Given the description of an element on the screen output the (x, y) to click on. 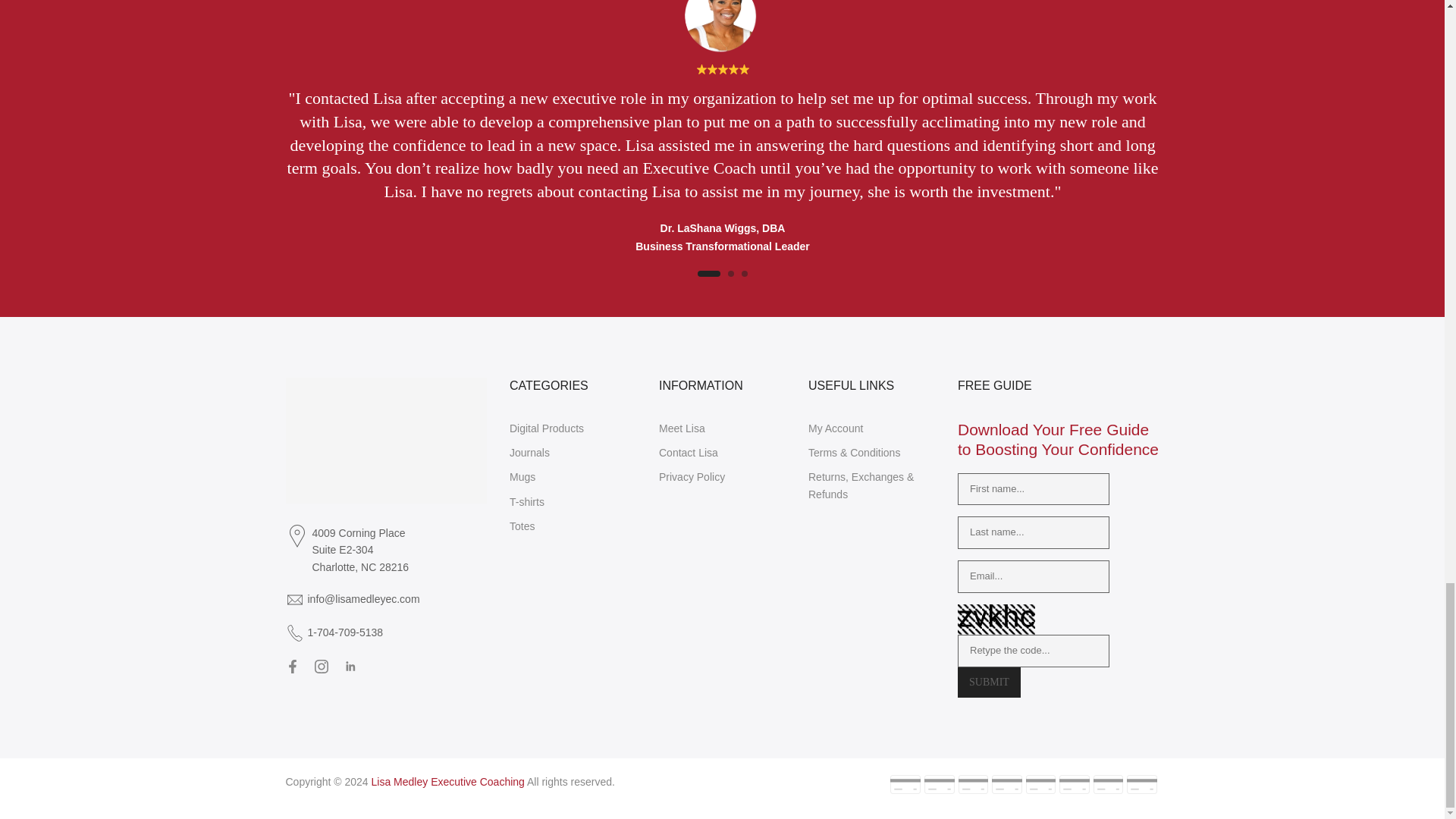
Totes (521, 526)
Digital Products (546, 428)
Mugs (522, 476)
Privacy Policy (692, 476)
My Account (835, 428)
SUBMIT (989, 682)
Journals (529, 452)
Contact Lisa (688, 452)
Meet Lisa (681, 428)
T-shirts (526, 501)
